Given the description of an element on the screen output the (x, y) to click on. 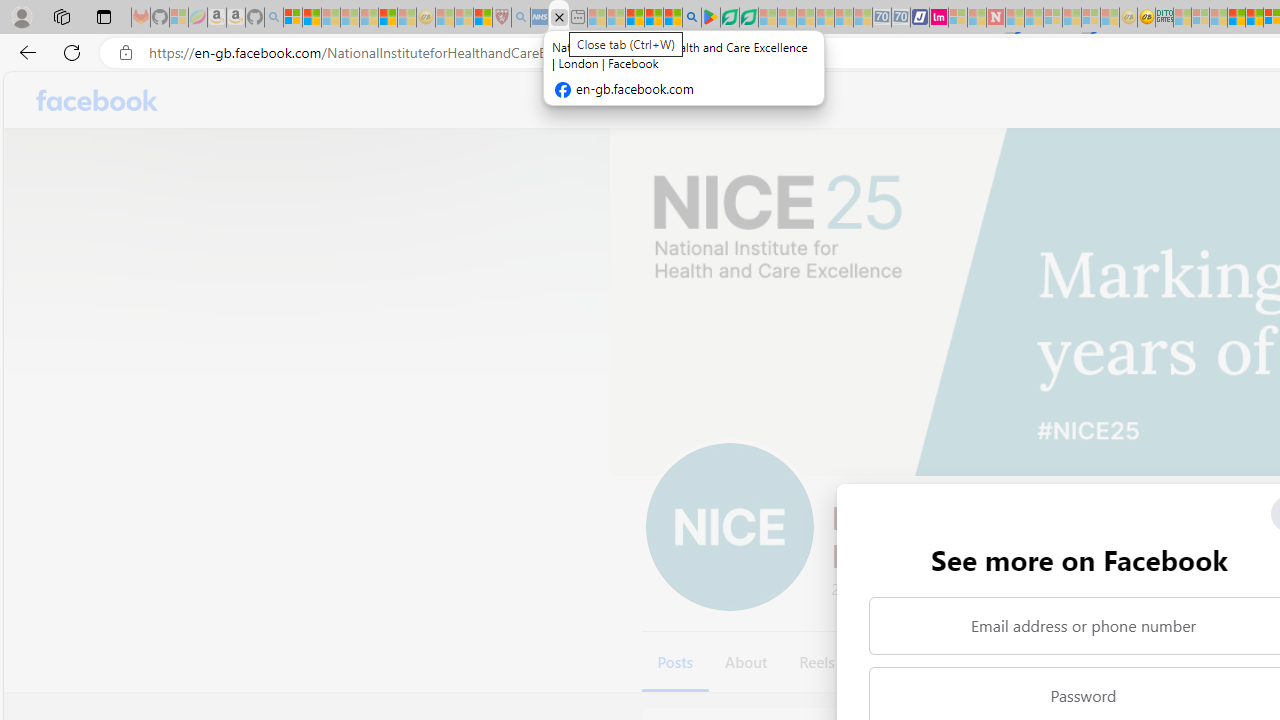
Jobs - lastminute.com Investor Portal (939, 17)
Local - MSN (482, 17)
Terms of Use Agreement (729, 17)
